Given the description of an element on the screen output the (x, y) to click on. 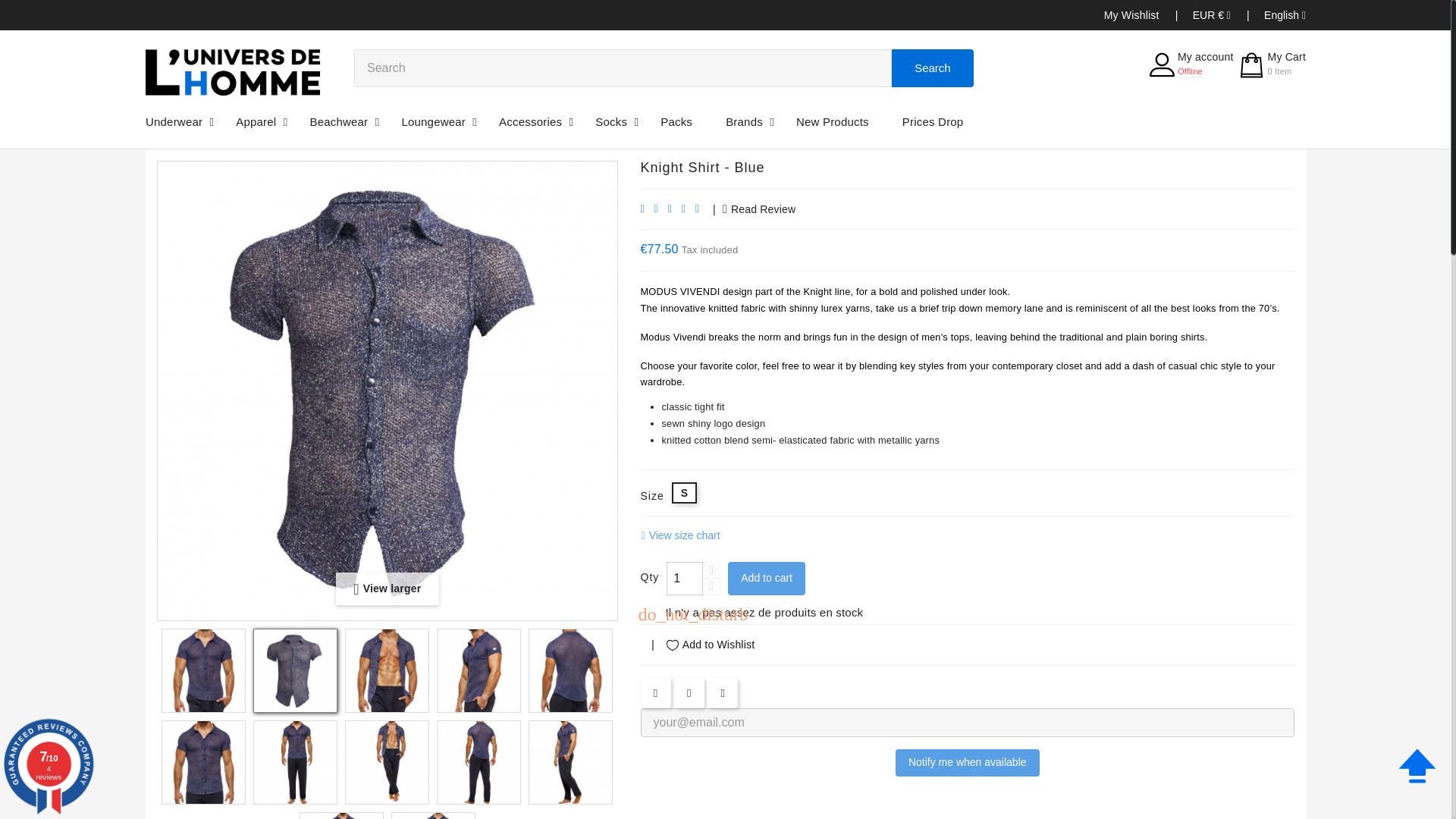
My Wishlist (1130, 14)
 Knight Shirt - blue - MODUS VIVENDI 05241-BLUE  (387, 762)
1 (684, 578)
Loungewear (1191, 63)
Knight Shirt - blue - MODUS VIVENDI 05241-BLUE (433, 121)
Beachwear (294, 670)
 Knight Shirt - blue - MODUS VIVENDI 05241-BLUE  (338, 121)
Search (202, 762)
 Knight Shirt - blue - MODUS VIVENDI 05241-BLUE  (932, 67)
 Knight Shirt - blue - MODUS VIVENDI 05241-BLUE  (202, 670)
English (387, 670)
 Knight Shirt - blue - MODUS VIVENDI 05241-BLUE  (1284, 14)
Underwear (294, 762)
 Knight Shirt - blue - MODUS VIVENDI 05241-BLUE  (173, 121)
